Given the description of an element on the screen output the (x, y) to click on. 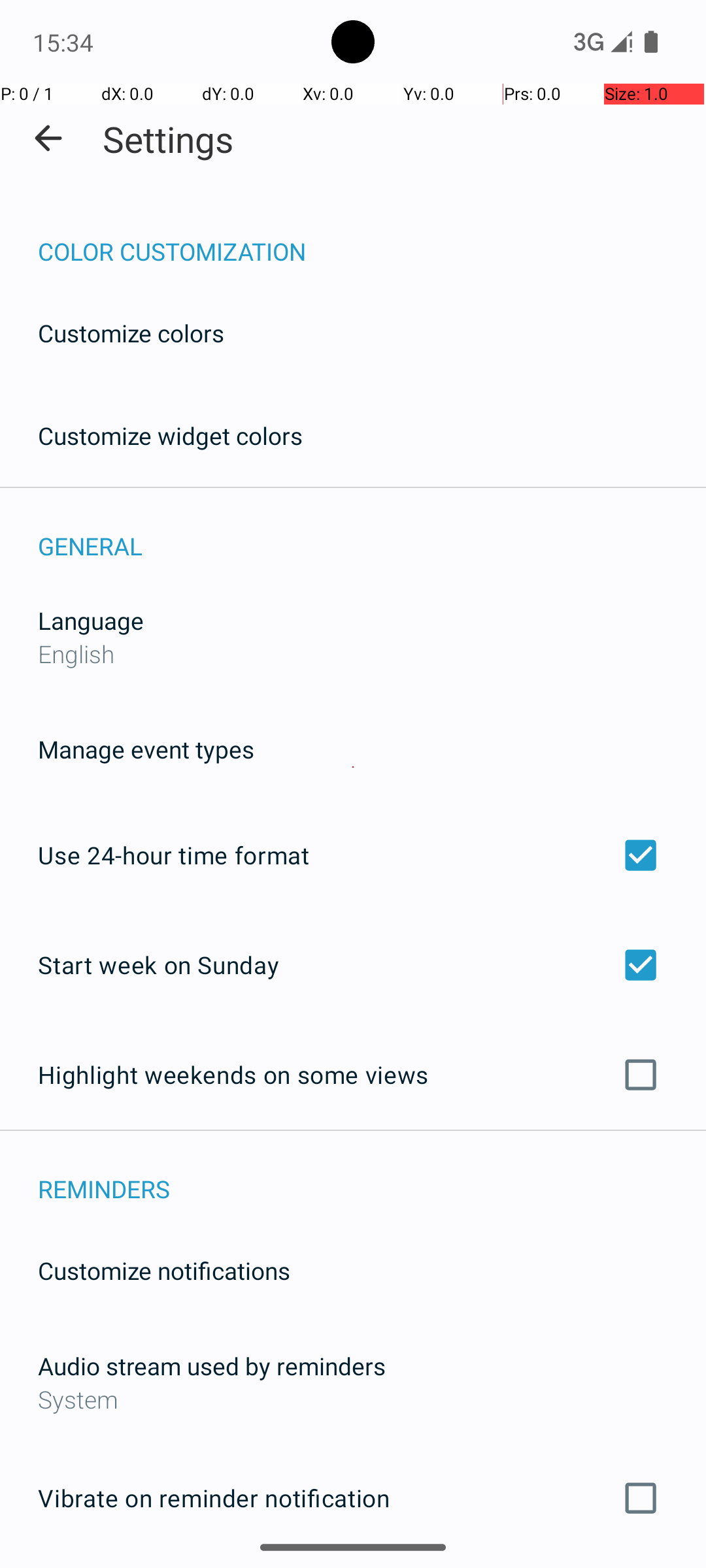
COLOR CUSTOMIZATION Element type: android.widget.TextView (371, 237)
REMINDERS Element type: android.widget.TextView (371, 1174)
Customize colors Element type: android.widget.TextView (130, 332)
Customize widget colors Element type: android.widget.TextView (170, 435)
English Element type: android.widget.TextView (75, 653)
Manage event types Element type: android.widget.TextView (145, 748)
Use 24-hour time format Element type: android.widget.CheckBox (352, 855)
Start week on Sunday Element type: android.widget.CheckBox (352, 964)
Highlight weekends on some views Element type: android.widget.CheckBox (352, 1074)
Customize notifications Element type: android.widget.TextView (163, 1270)
Audio stream used by reminders Element type: android.widget.TextView (211, 1365)
System Element type: android.widget.TextView (352, 1398)
Vibrate on reminder notification Element type: android.widget.CheckBox (352, 1497)
Loop reminders until dismissed Element type: android.widget.CheckBox (352, 1567)
